Given the description of an element on the screen output the (x, y) to click on. 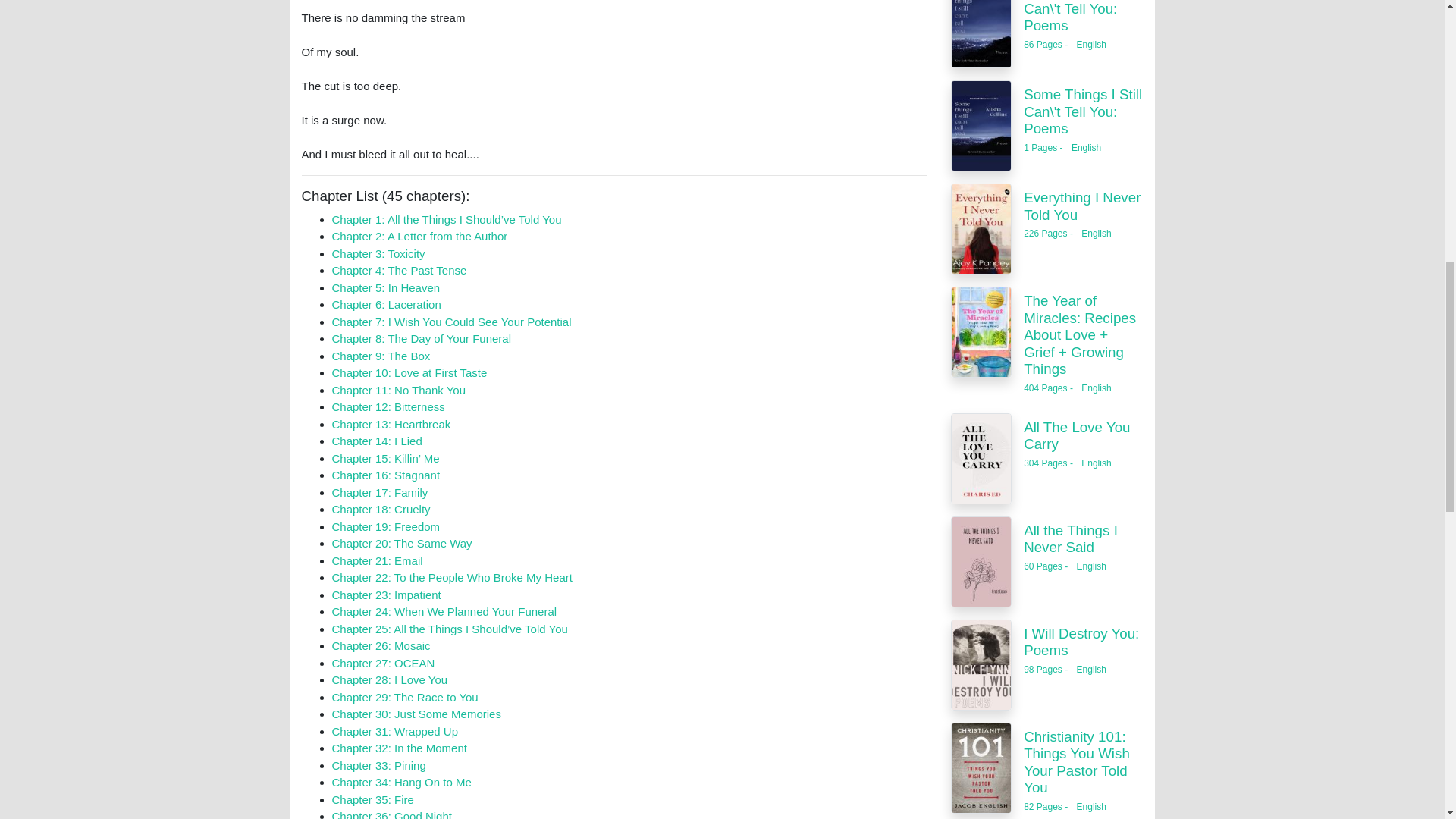
Chapter 10: Love at First Taste (409, 372)
Chapter 11: No Thank You (398, 390)
Chapter 4: The Past Tense (399, 269)
Chapter 8: The Day of Your Funeral (421, 338)
Chapter 6: Laceration (386, 304)
Chapter 9: The Box (380, 355)
Chapter 5: In Heaven (386, 287)
Chapter 3: Toxicity (378, 253)
Chapter 2: A Letter from the Author (419, 236)
Chapter 12: Bitterness (388, 406)
